Given the description of an element on the screen output the (x, y) to click on. 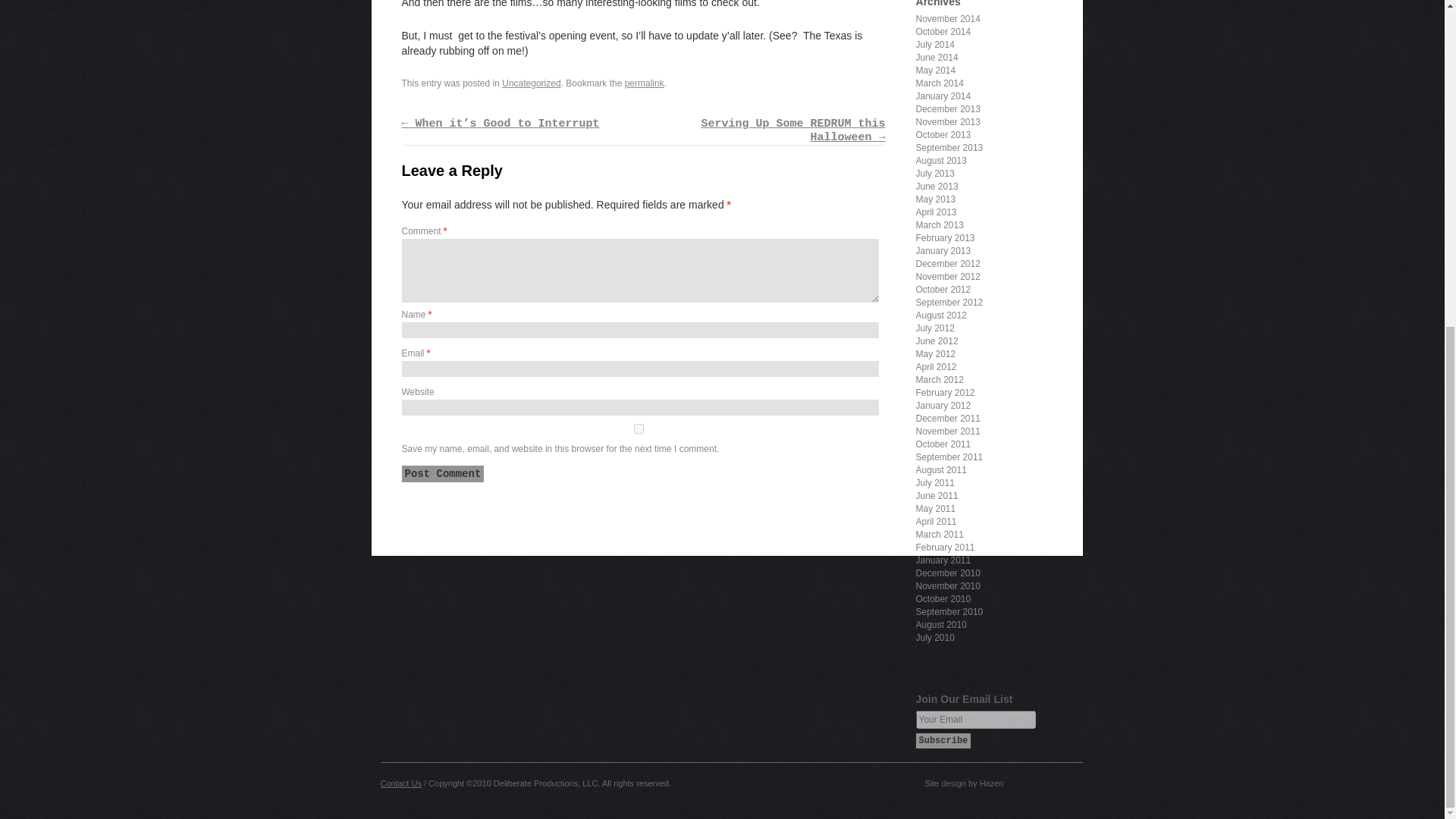
Permalink to And So It Begins (643, 82)
Post Comment (442, 474)
Subscribe (943, 740)
Uncategorized (531, 82)
Your Email (975, 719)
Post Comment (442, 474)
yes (638, 429)
permalink (643, 82)
